Given the description of an element on the screen output the (x, y) to click on. 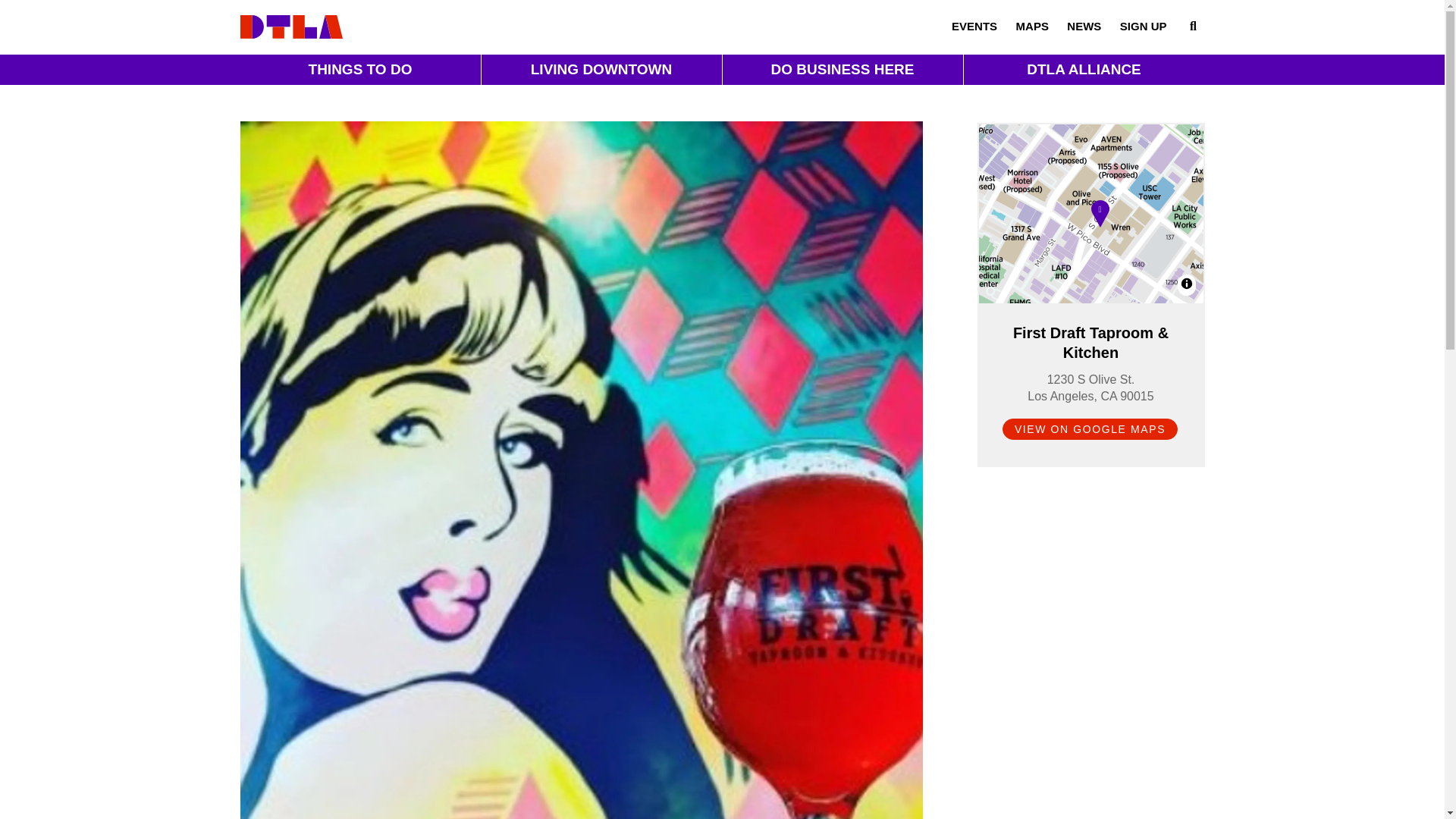
THINGS TO DO (360, 69)
LIVING DOWNTOWN (600, 69)
